Given the description of an element on the screen output the (x, y) to click on. 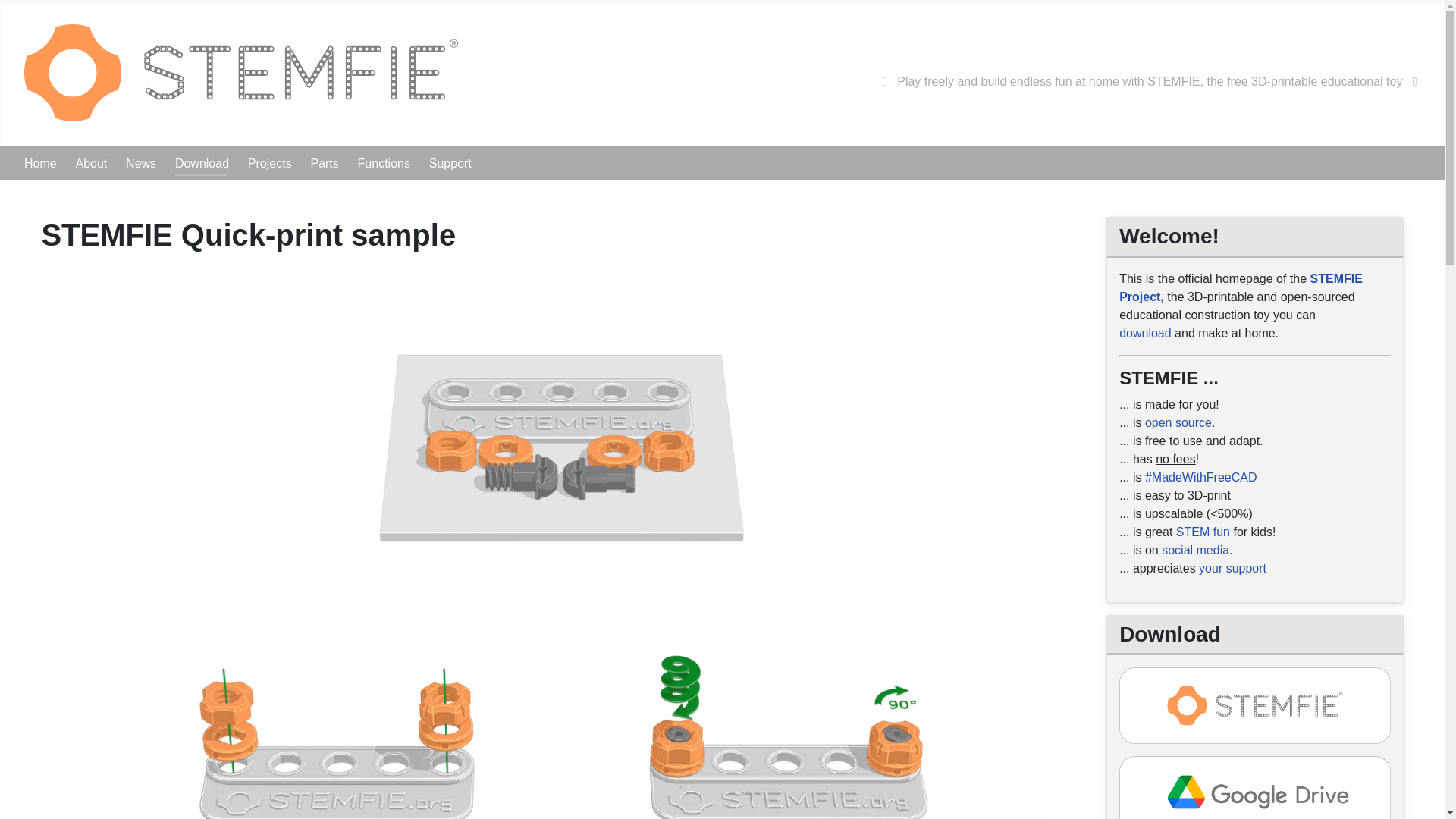
Projects (269, 163)
download (1145, 332)
News (140, 163)
STEMFIE Project (1240, 287)
STEM fun (1203, 531)
Home (40, 163)
social media (1194, 549)
open source (1177, 422)
Download (201, 163)
About (90, 163)
your support (1232, 567)
Functions (384, 163)
Parts (323, 163)
Support (450, 163)
